Given the description of an element on the screen output the (x, y) to click on. 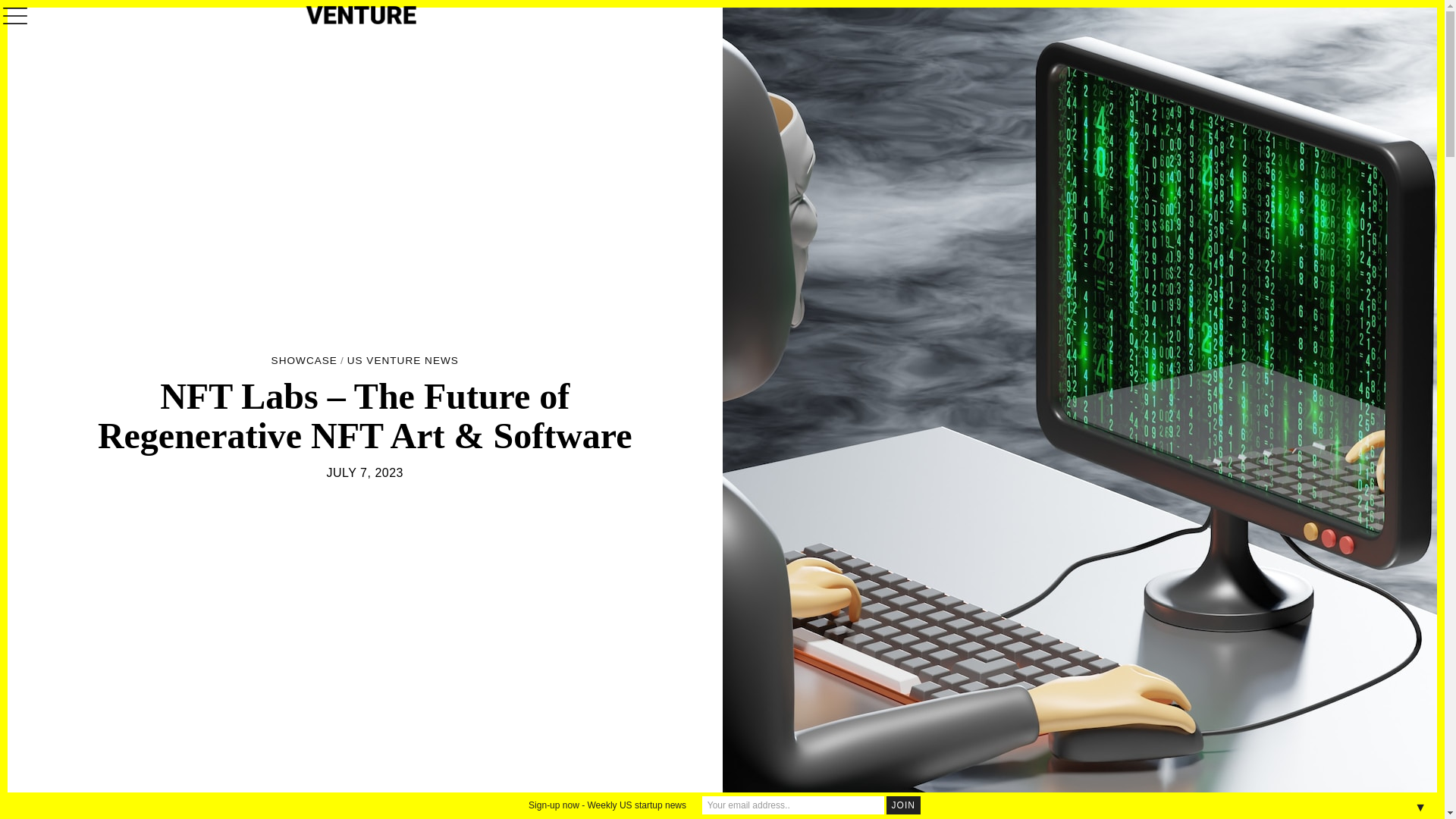
Join (903, 805)
SHOWCASE (303, 360)
US VENTURE NEWS (402, 360)
